Given the description of an element on the screen output the (x, y) to click on. 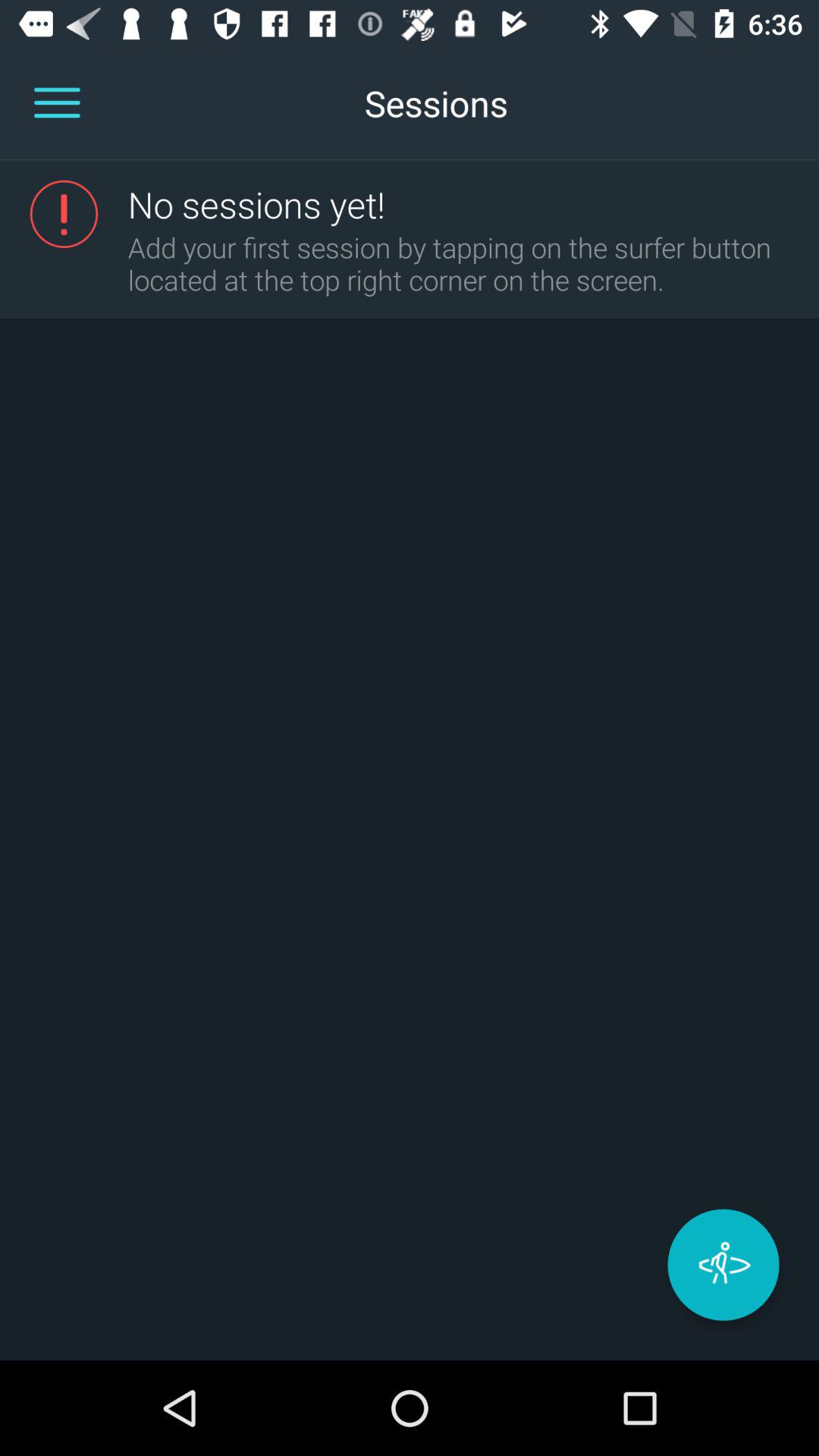
main menu (57, 103)
